Given the description of an element on the screen output the (x, y) to click on. 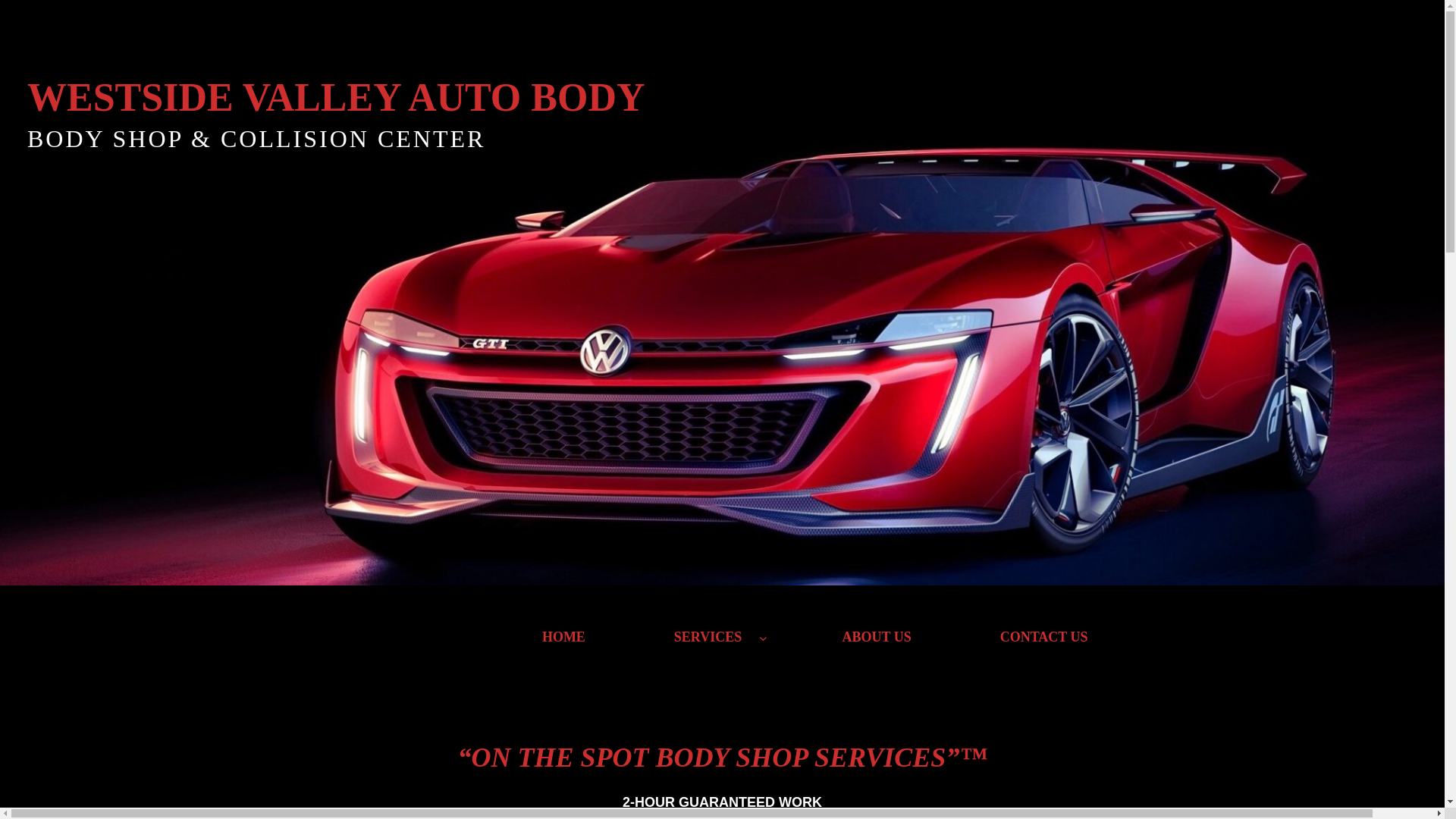
HOME (563, 637)
SERVICES (708, 637)
ABOUT US (876, 637)
CONTACT US (1044, 637)
